Given the description of an element on the screen output the (x, y) to click on. 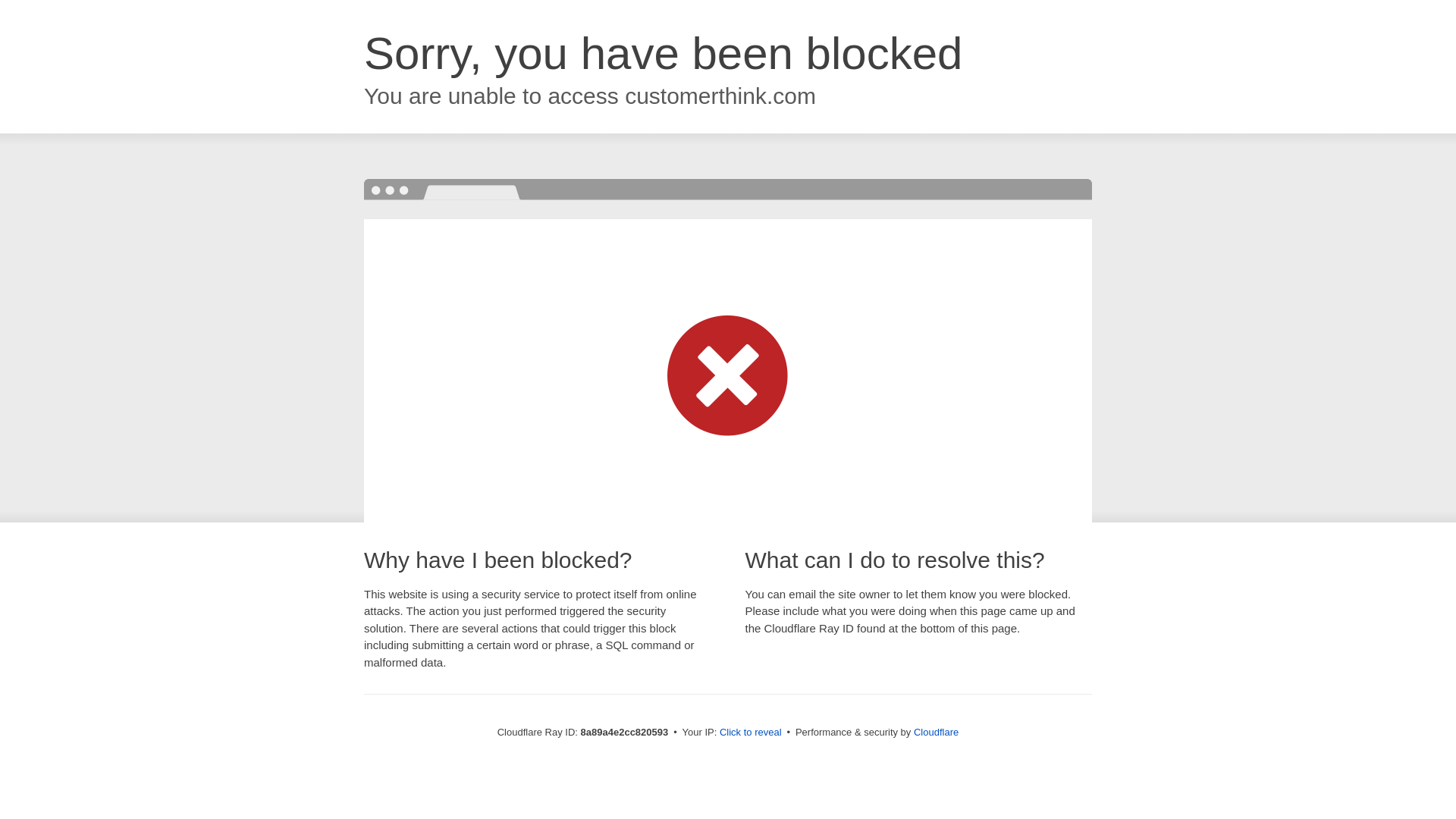
Cloudflare (936, 731)
Click to reveal (750, 732)
